Given the description of an element on the screen output the (x, y) to click on. 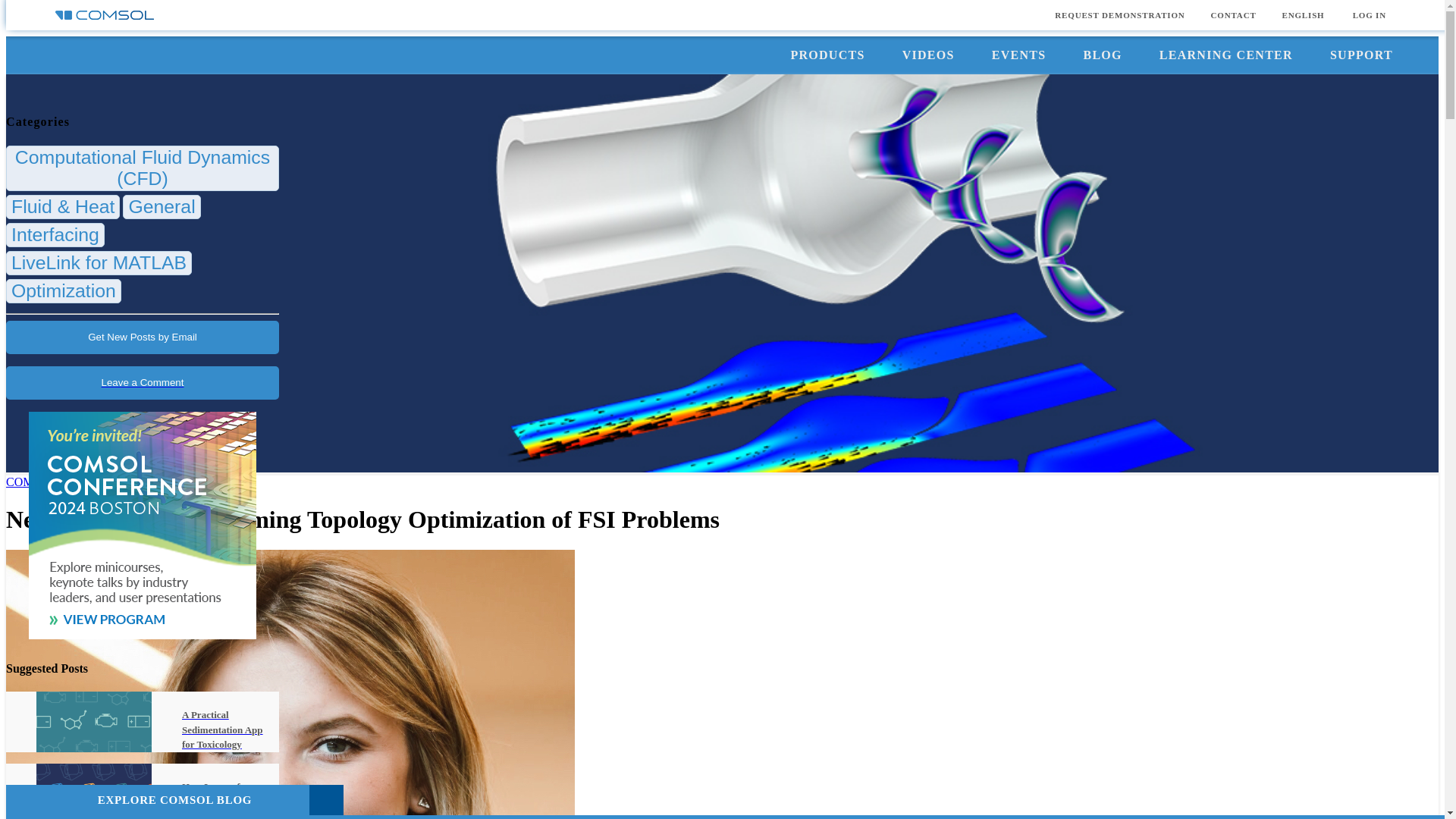
SUPPORT (1360, 55)
LOG IN (1368, 15)
COMSOL Blog (43, 481)
EVENTS (1018, 55)
VIDEOS (927, 55)
REQUEST DEMONSTRATION (1119, 15)
PRODUCTS (826, 55)
CONTACT (1233, 15)
LEARNING CENTER (1225, 55)
BLOG (1102, 55)
